Given the description of an element on the screen output the (x, y) to click on. 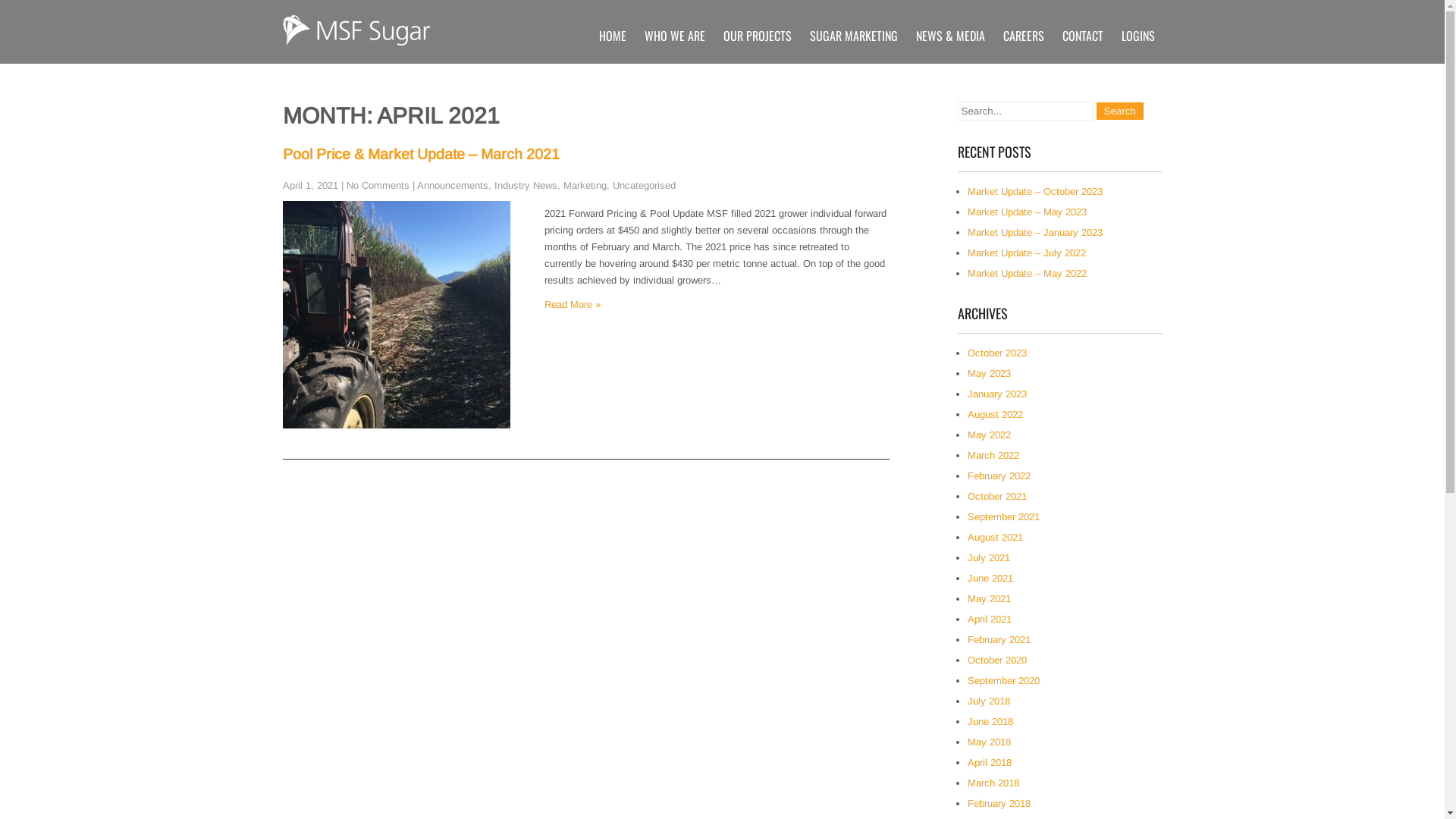
No Comments Element type: text (376, 185)
CONTACT Element type: text (1082, 35)
January 2023 Element type: text (996, 393)
October 2021 Element type: text (996, 496)
October 2023 Element type: text (996, 352)
May 2023 Element type: text (988, 373)
April 2021 Element type: text (989, 618)
NEWS & MEDIA Element type: text (950, 35)
February 2022 Element type: text (998, 475)
Search Element type: text (1119, 110)
Marketing Element type: text (583, 185)
May 2022 Element type: text (988, 434)
September 2021 Element type: text (1003, 516)
August 2022 Element type: text (994, 414)
OUR PROJECTS Element type: text (757, 35)
June 2018 Element type: text (990, 721)
February 2021 Element type: text (998, 639)
May 2021 Element type: text (988, 598)
April 2018 Element type: text (989, 762)
July 2021 Element type: text (988, 557)
Announcements Element type: text (452, 185)
March 2018 Element type: text (993, 782)
July 2018 Element type: text (988, 700)
Uncategorised Element type: text (643, 185)
October 2020 Element type: text (996, 659)
March 2022 Element type: text (993, 455)
SUGAR MARKETING Element type: text (853, 35)
September 2020 Element type: text (1003, 680)
WHO WE ARE Element type: text (674, 35)
February 2018 Element type: text (998, 803)
Industry News Element type: text (525, 185)
LOGINS Element type: text (1137, 35)
CAREERS Element type: text (1022, 35)
June 2021 Element type: text (990, 577)
August 2021 Element type: text (994, 536)
HOME Element type: text (612, 35)
May 2018 Element type: text (988, 741)
